Given the description of an element on the screen output the (x, y) to click on. 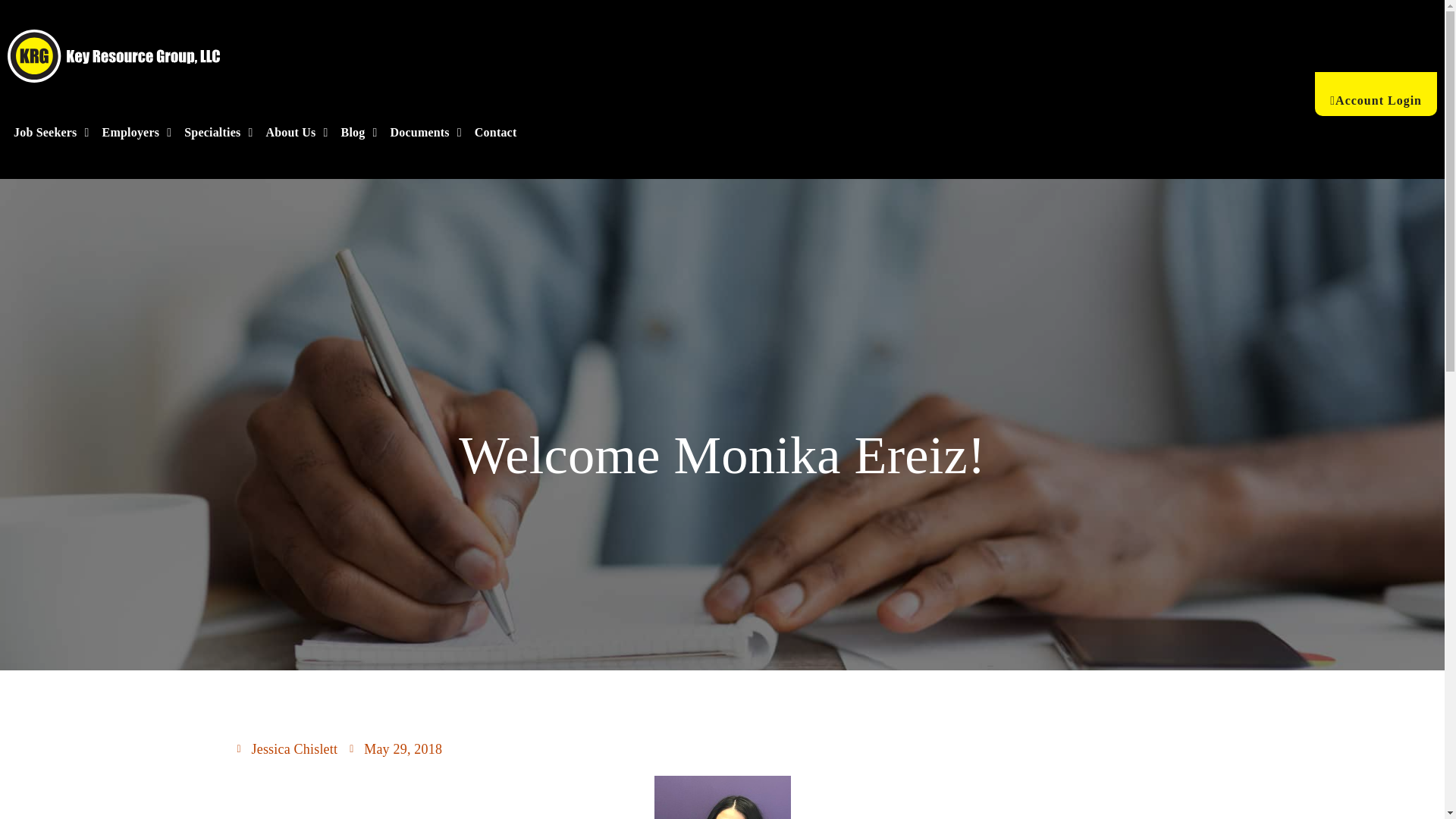
Account Login (1375, 94)
Contact (495, 132)
Job Seekers (51, 132)
Employers (136, 132)
Documents (425, 132)
Blog (359, 132)
About Us (296, 132)
Specialties (218, 132)
